Given the description of an element on the screen output the (x, y) to click on. 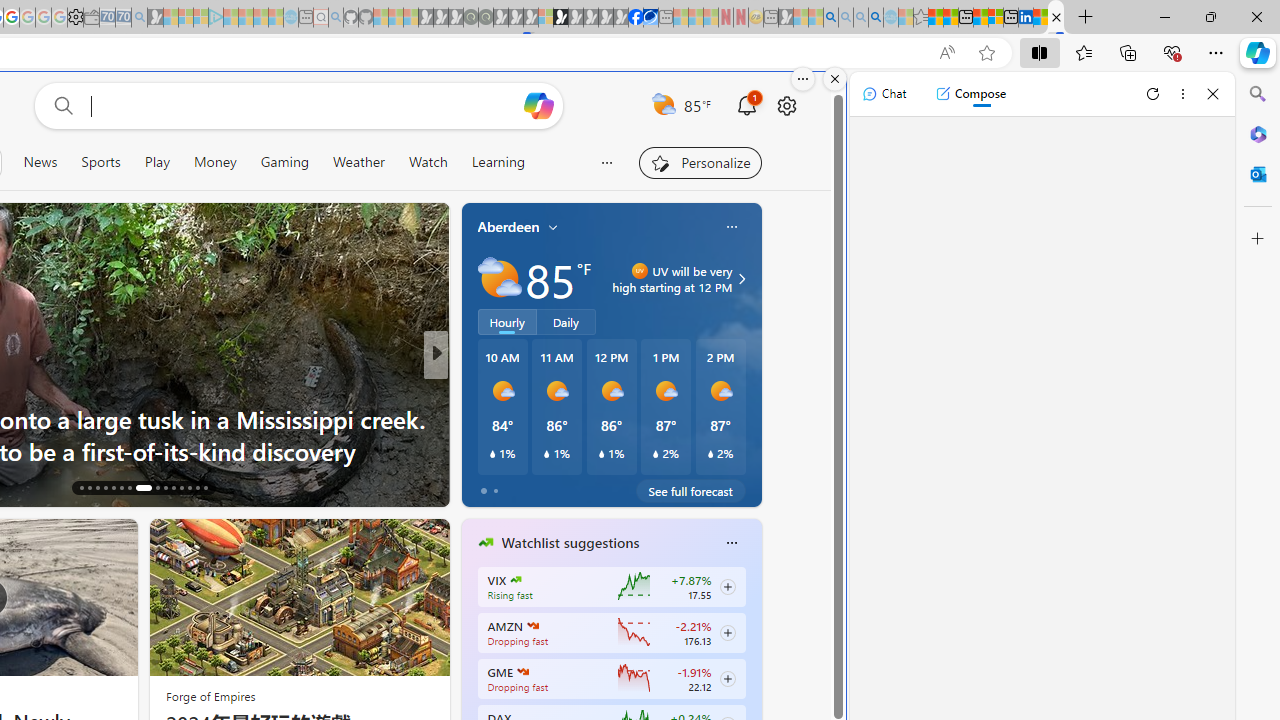
View comments 6 Comment (580, 486)
AutomationID: tab-20 (112, 487)
Gaming (285, 162)
Start the conversation (561, 485)
Like (478, 486)
AQI & Health | AirNow.gov (650, 17)
26 Real Tips That Helped Me Lose 100 Pounds (758, 450)
View comments 5 Comment (573, 486)
More options (1182, 93)
